Given the description of an element on the screen output the (x, y) to click on. 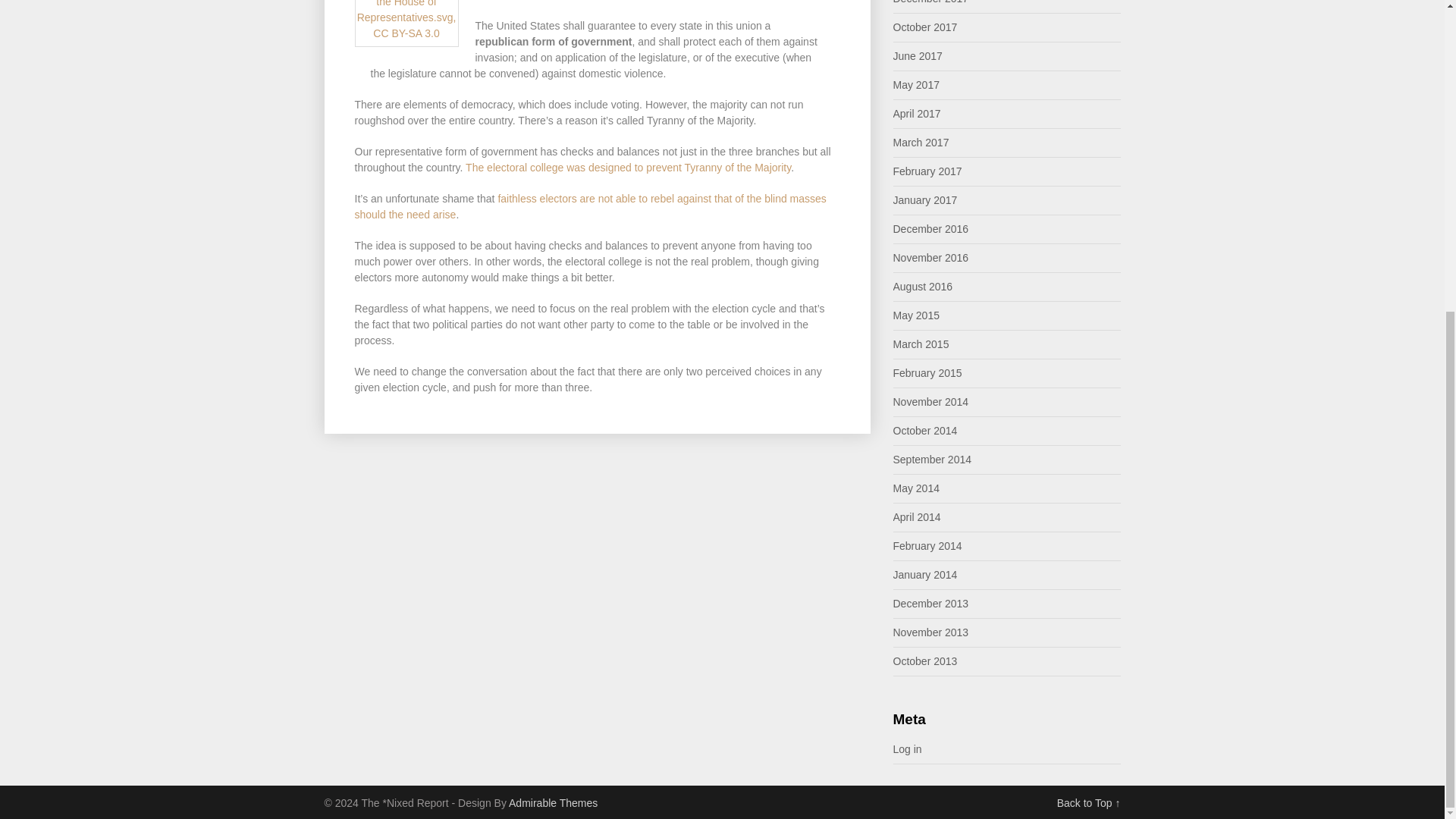
May 2017 (916, 84)
December 2016 (931, 228)
April 2014 (916, 517)
November 2014 (931, 401)
October 2014 (925, 430)
November 2016 (931, 257)
March 2015 (921, 344)
May 2014 (916, 488)
February 2015 (927, 372)
December 2017 (931, 2)
April 2017 (916, 113)
October 2017 (925, 27)
February 2014 (927, 545)
January 2017 (925, 200)
